Given the description of an element on the screen output the (x, y) to click on. 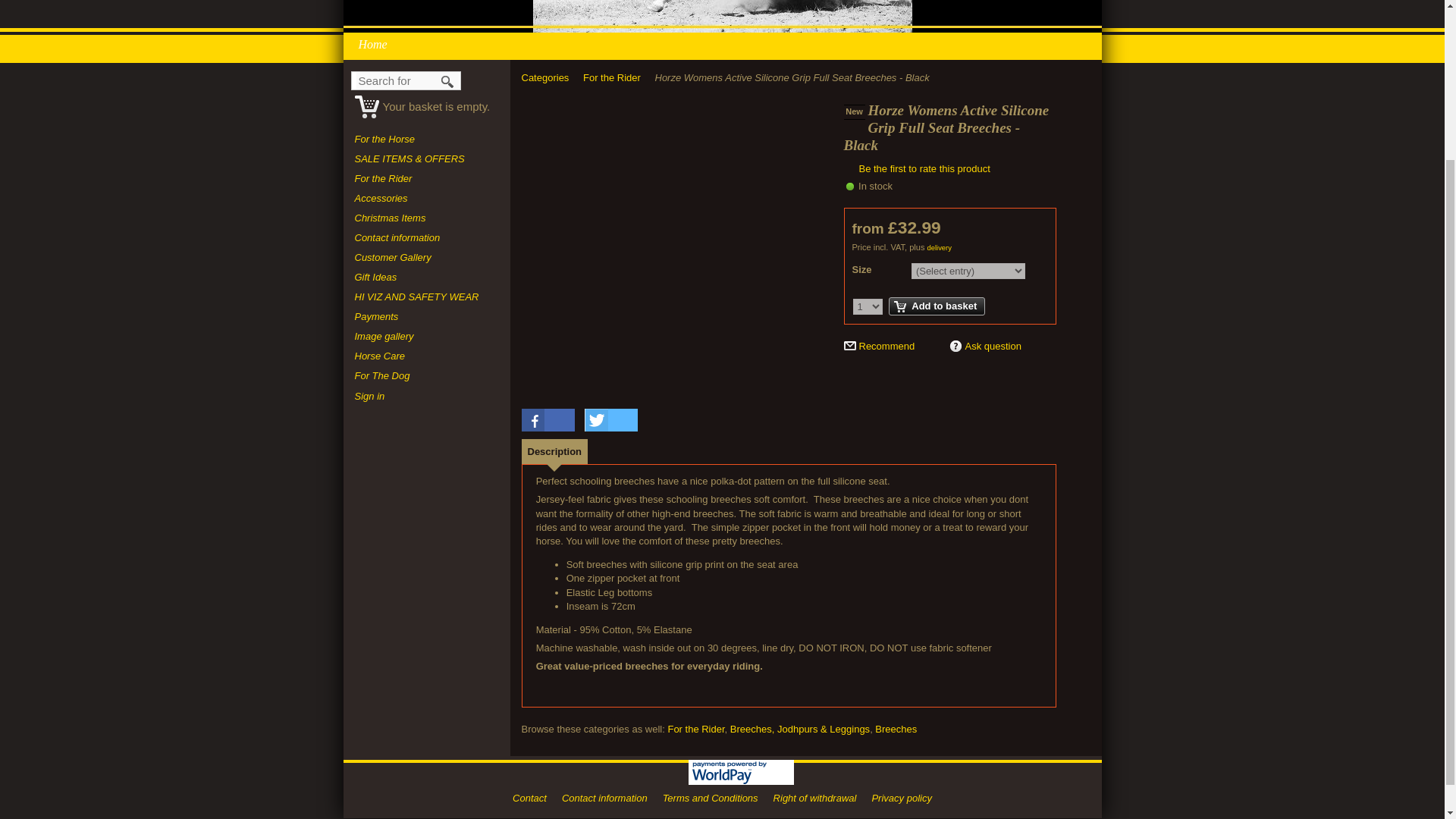
For the Horse (427, 139)
Secure payment via  WorldPay (740, 772)
Start search (448, 81)
Home (376, 43)
